Given the description of an element on the screen output the (x, y) to click on. 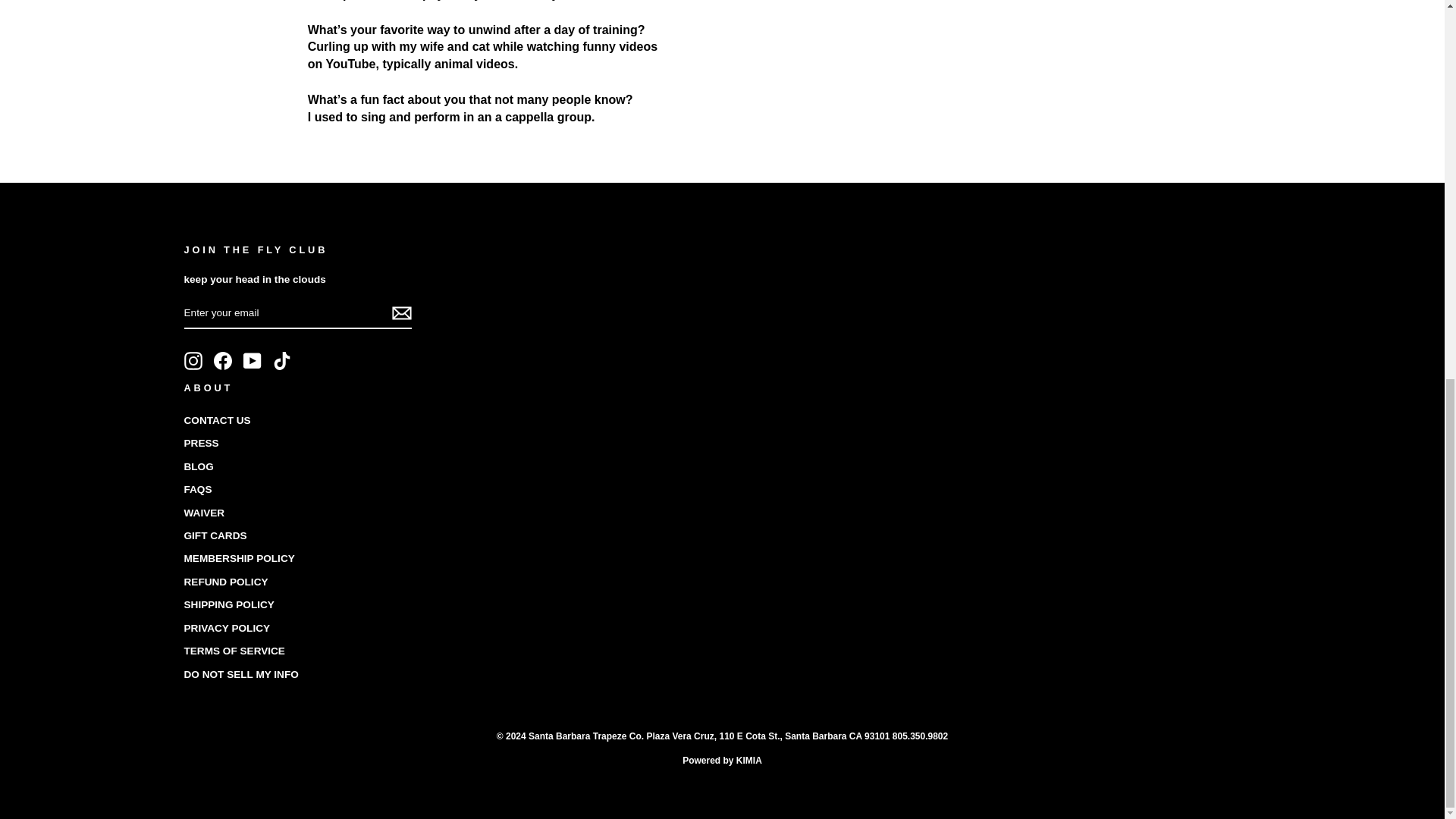
Santa Barbara Trapeze Co. on TikTok (282, 361)
Santa Barbara Trapeze Co. on Facebook (222, 361)
Santa Barbara Trapeze Co. on Instagram (192, 361)
Santa Barbara Trapeze Co. on YouTube (251, 361)
